Given the description of an element on the screen output the (x, y) to click on. 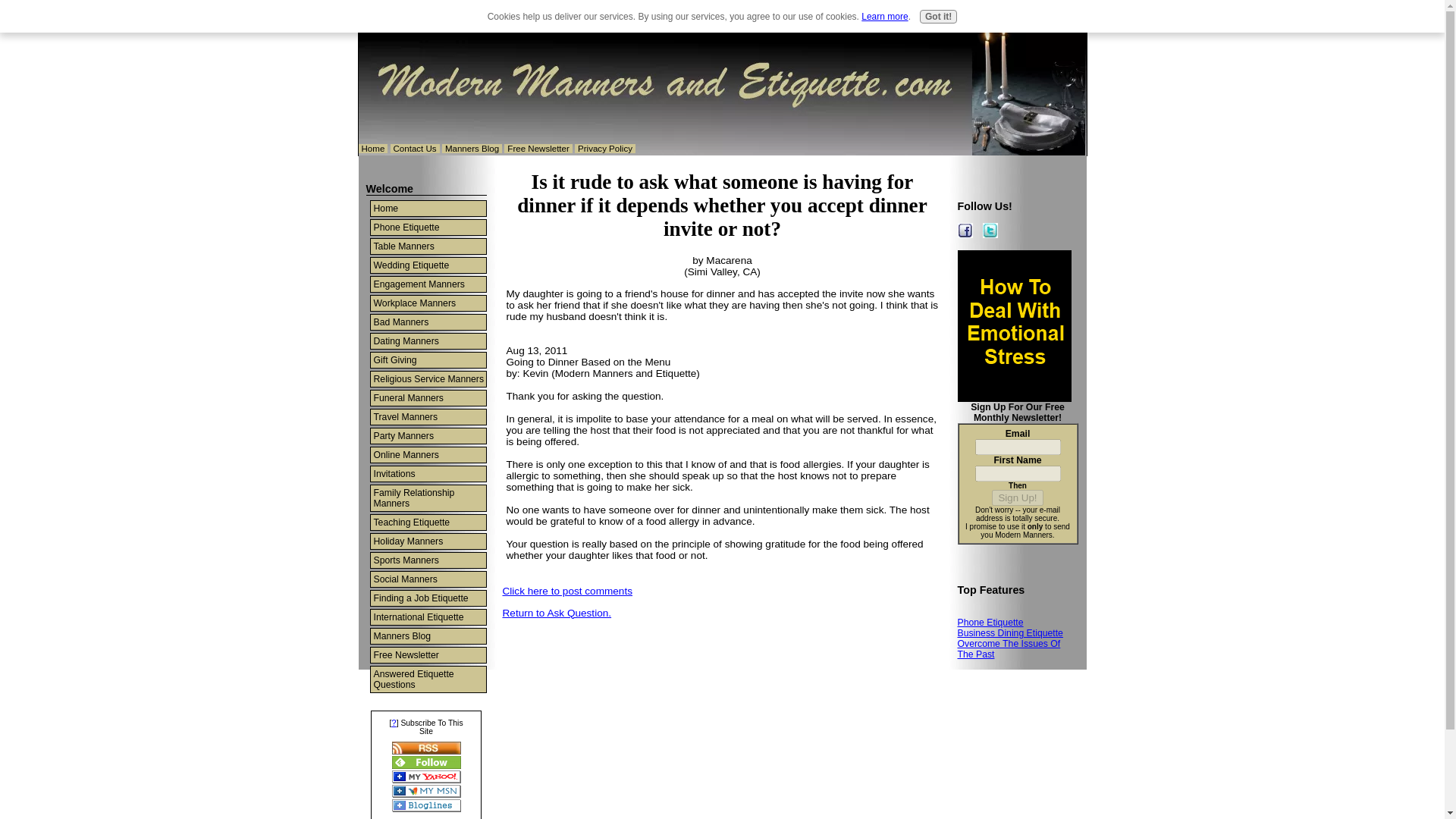
Dating Manners (426, 340)
Online Manners (426, 454)
Follow Me On Twitter (989, 230)
Party Manners (426, 435)
Travel Manners (426, 417)
Home (372, 148)
Holiday Manners (426, 540)
Religious Service Manners (426, 378)
Family Relationship Manners (426, 498)
Bad Manners (426, 322)
Gift Giving (426, 359)
Sign Up! (1016, 497)
Funeral Manners (426, 397)
Social Manners (426, 579)
Contact Us (414, 148)
